Given the description of an element on the screen output the (x, y) to click on. 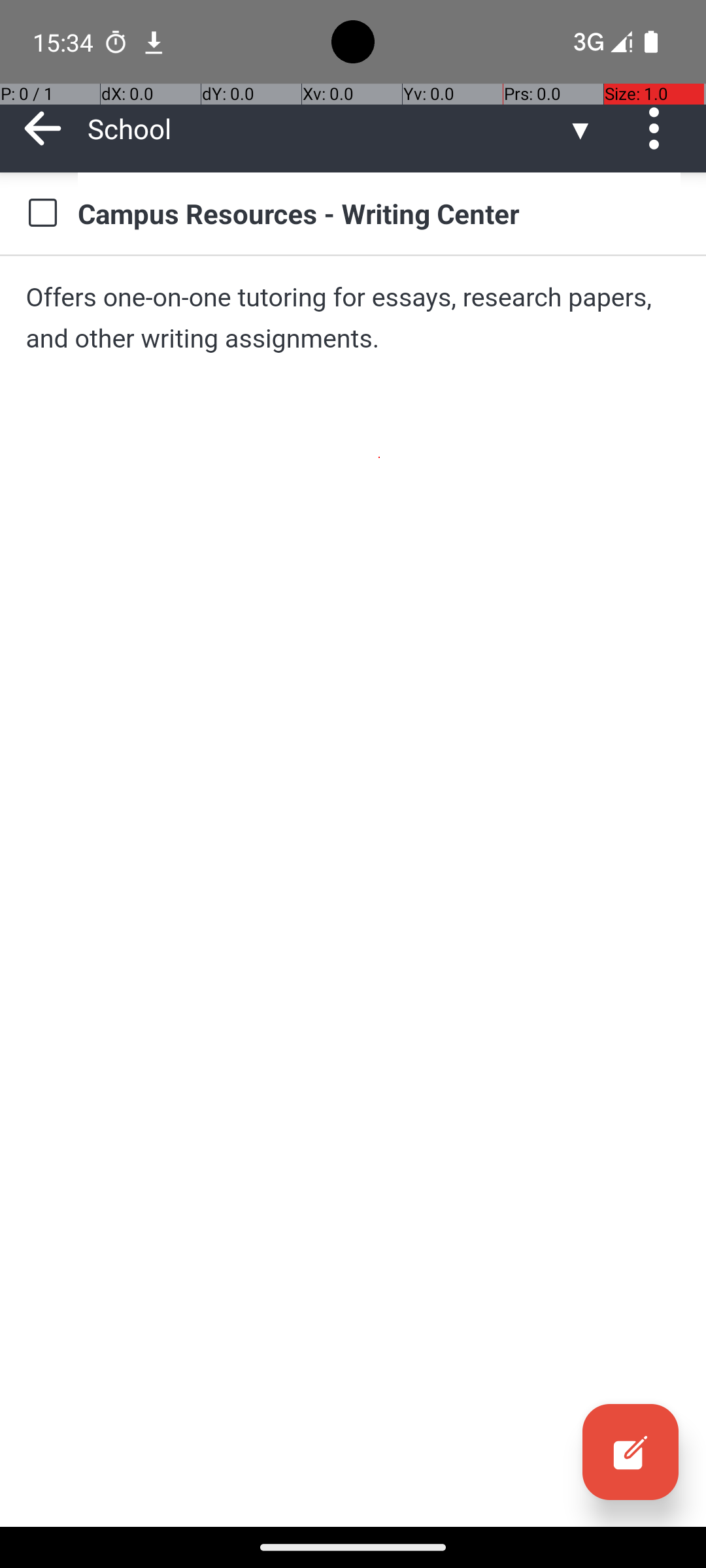
Campus Resources - Writing Center Element type: android.widget.EditText (378, 213)
Offers one-on-one tutoring for essays, research papers, and other writing assignments. Element type: android.widget.TextView (352, 317)
